Given the description of an element on the screen output the (x, y) to click on. 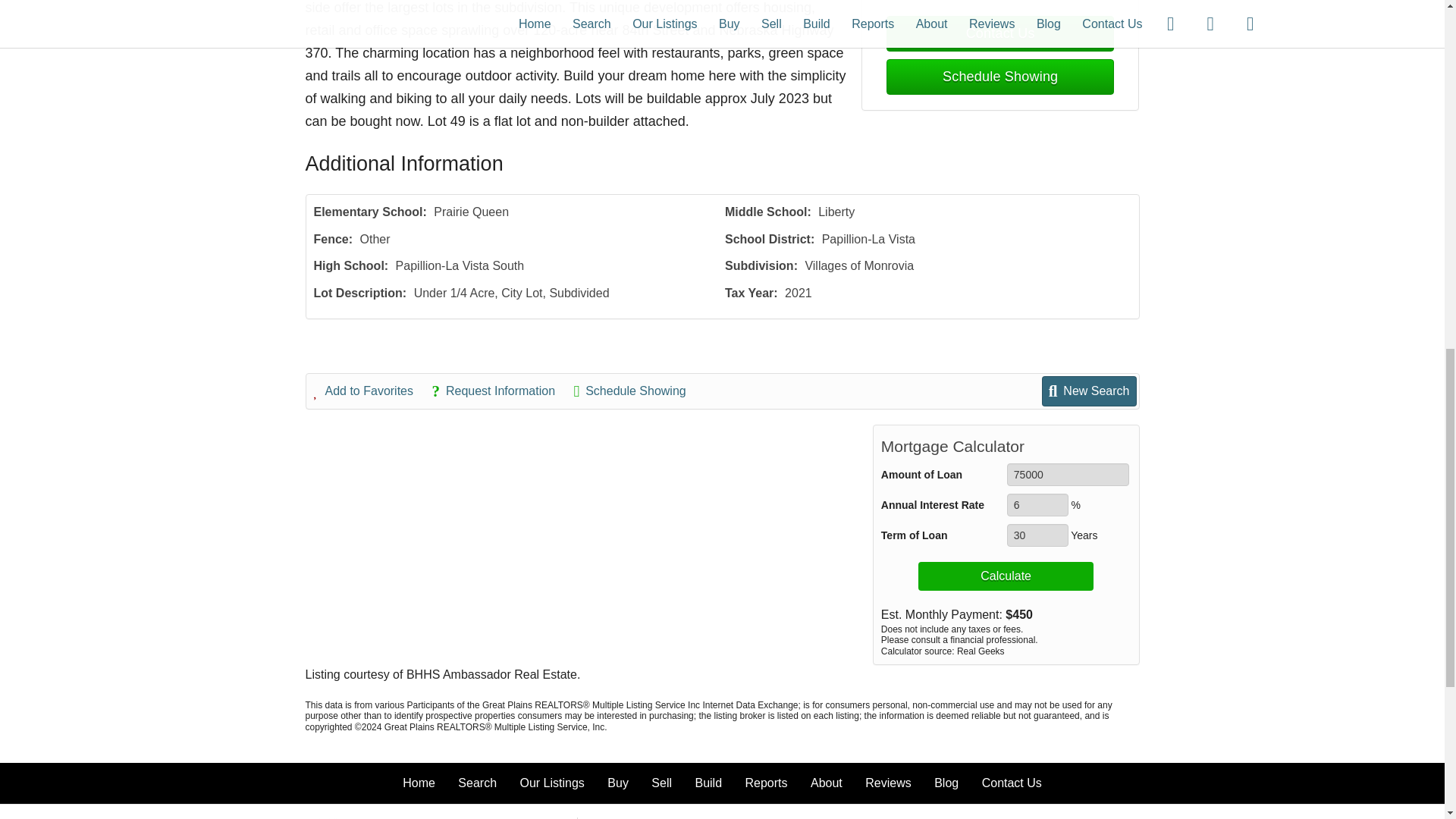
6 (1037, 504)
75000 (1068, 474)
30 (1037, 535)
